Given the description of an element on the screen output the (x, y) to click on. 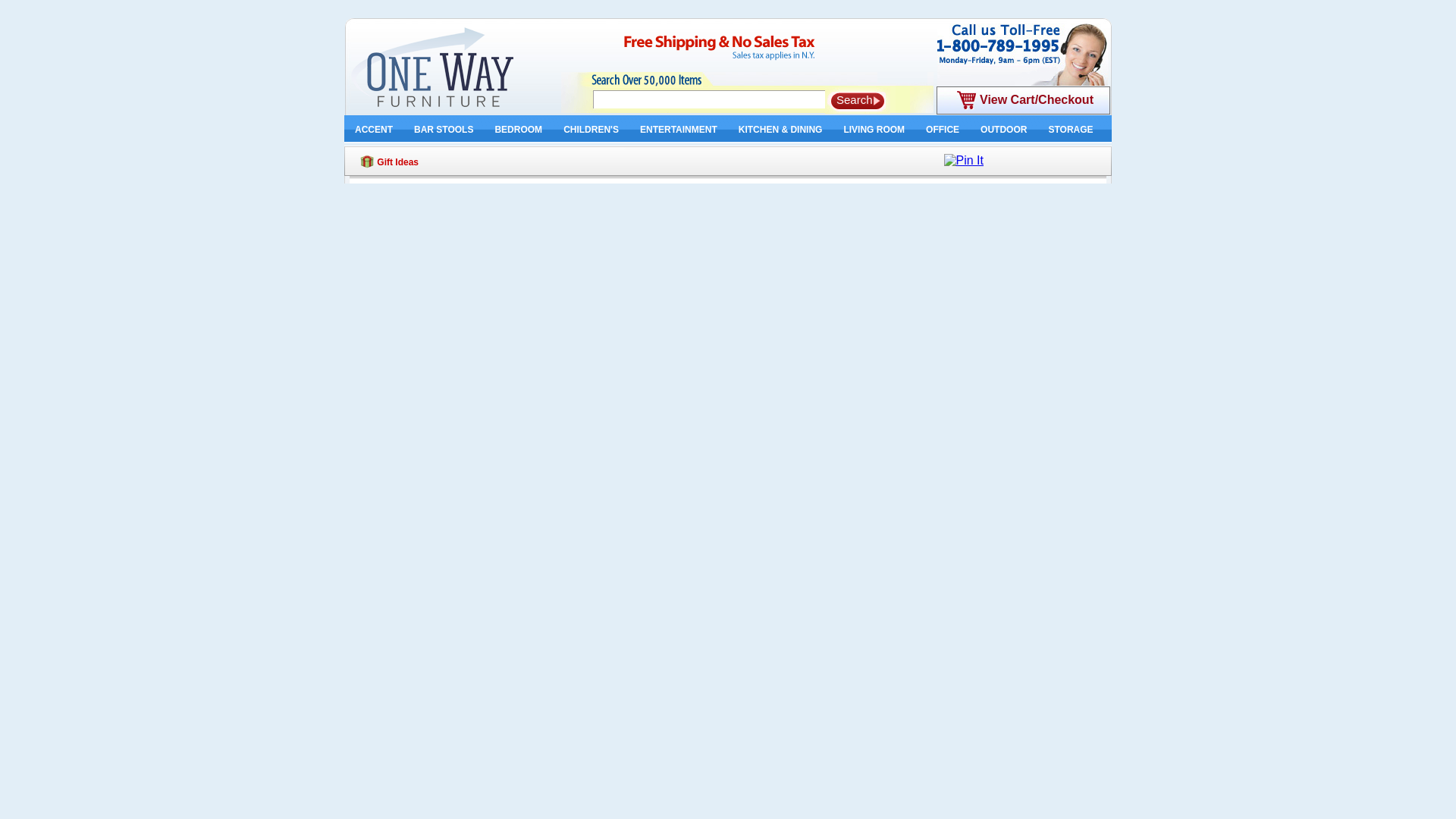
BEDROOM (518, 129)
One Way Furniture (455, 67)
Search (857, 99)
BAR STOOLS (443, 129)
ACCENT (373, 129)
